Given the description of an element on the screen output the (x, y) to click on. 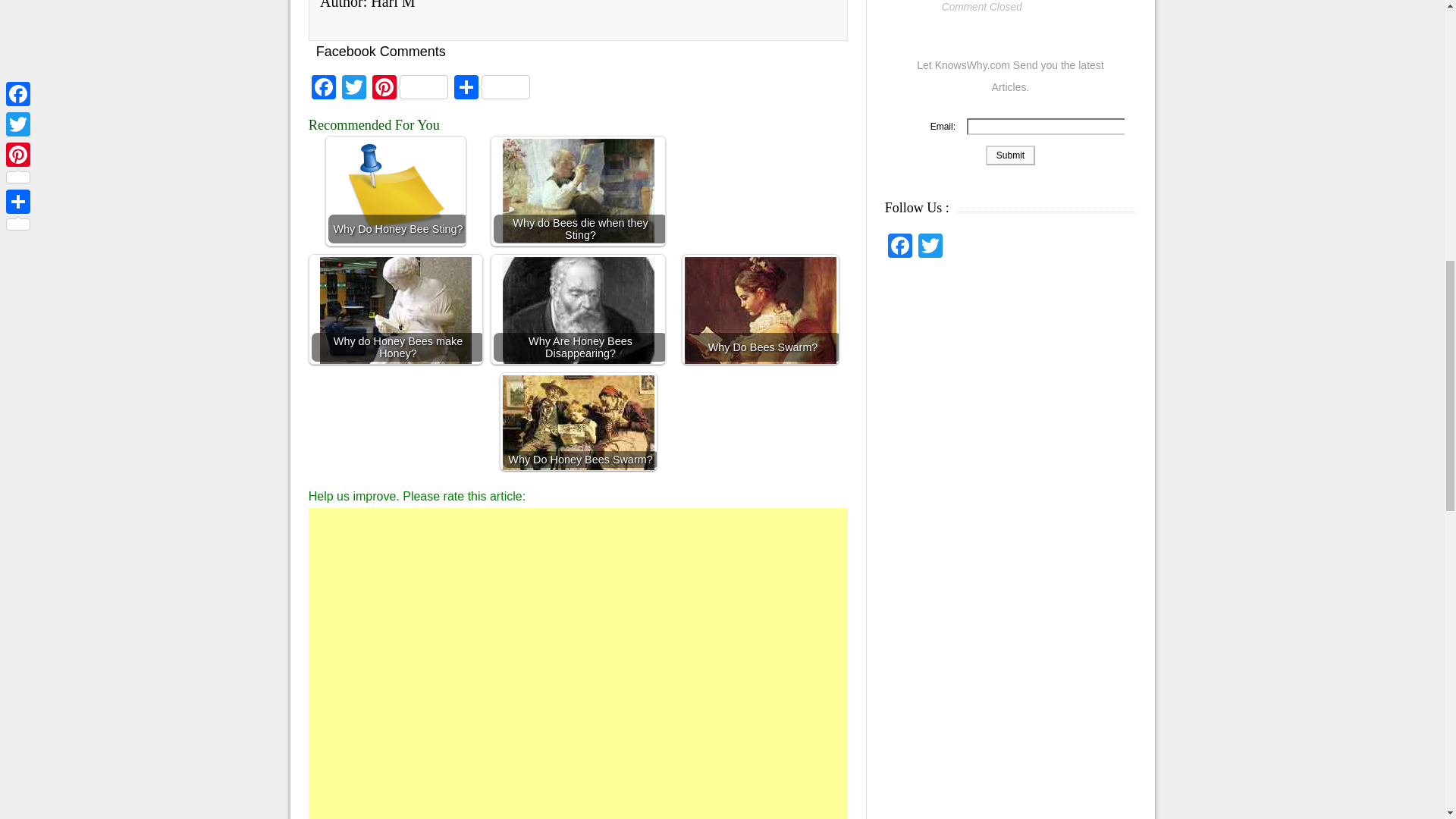
Why do Bees die when they Sting? (578, 190)
Why Are Honey Bees Disappearing? (578, 308)
Why do Honey Bees make Honey? (395, 322)
Why Do Honey Bee Sting? (395, 195)
Facebook (323, 89)
Why do Honey Bees make Honey? (395, 308)
Facebook (323, 89)
Submit (1010, 155)
Twitter (354, 89)
